Given the description of an element on the screen output the (x, y) to click on. 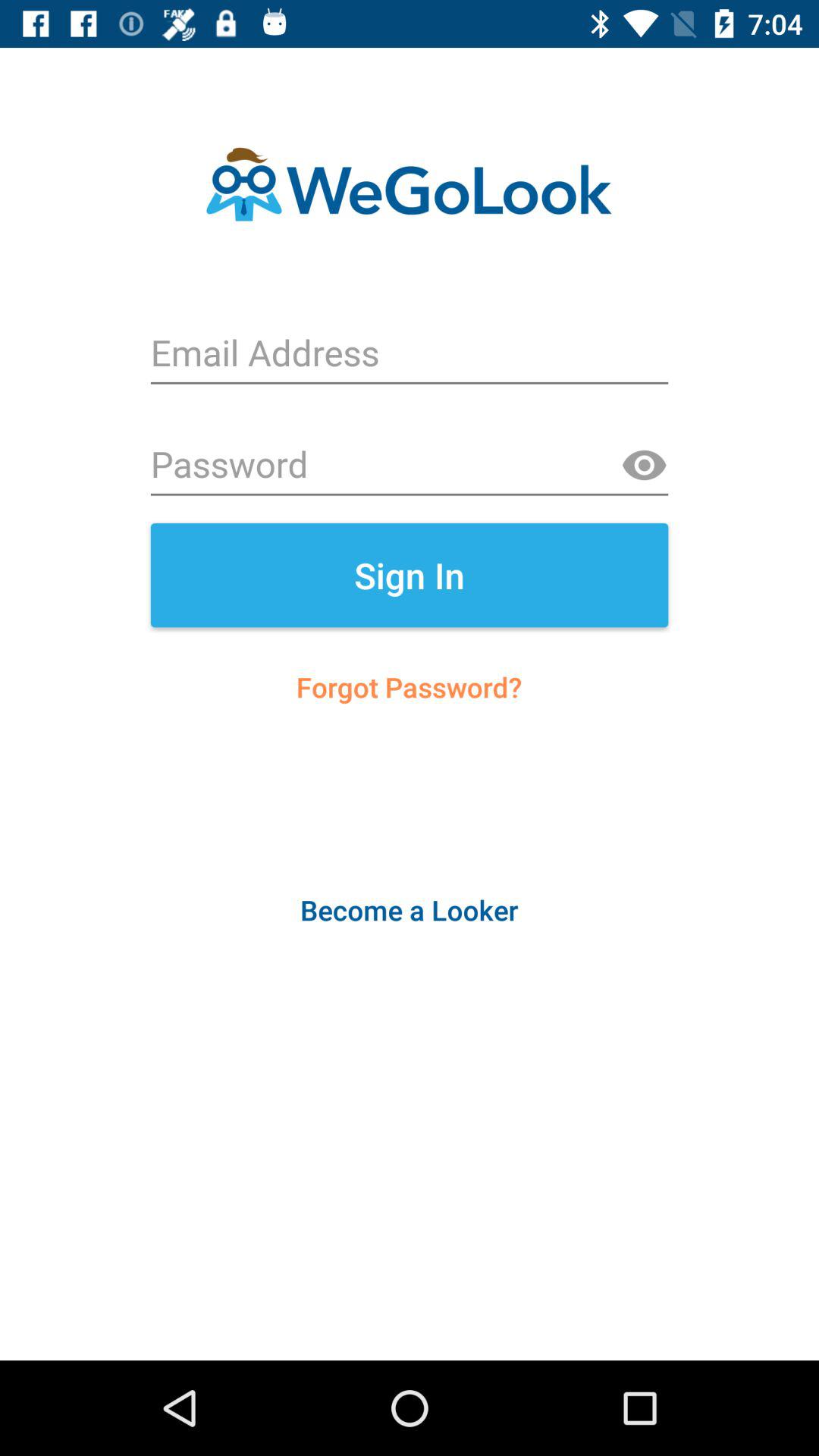
launch item at the top right corner (644, 465)
